Given the description of an element on the screen output the (x, y) to click on. 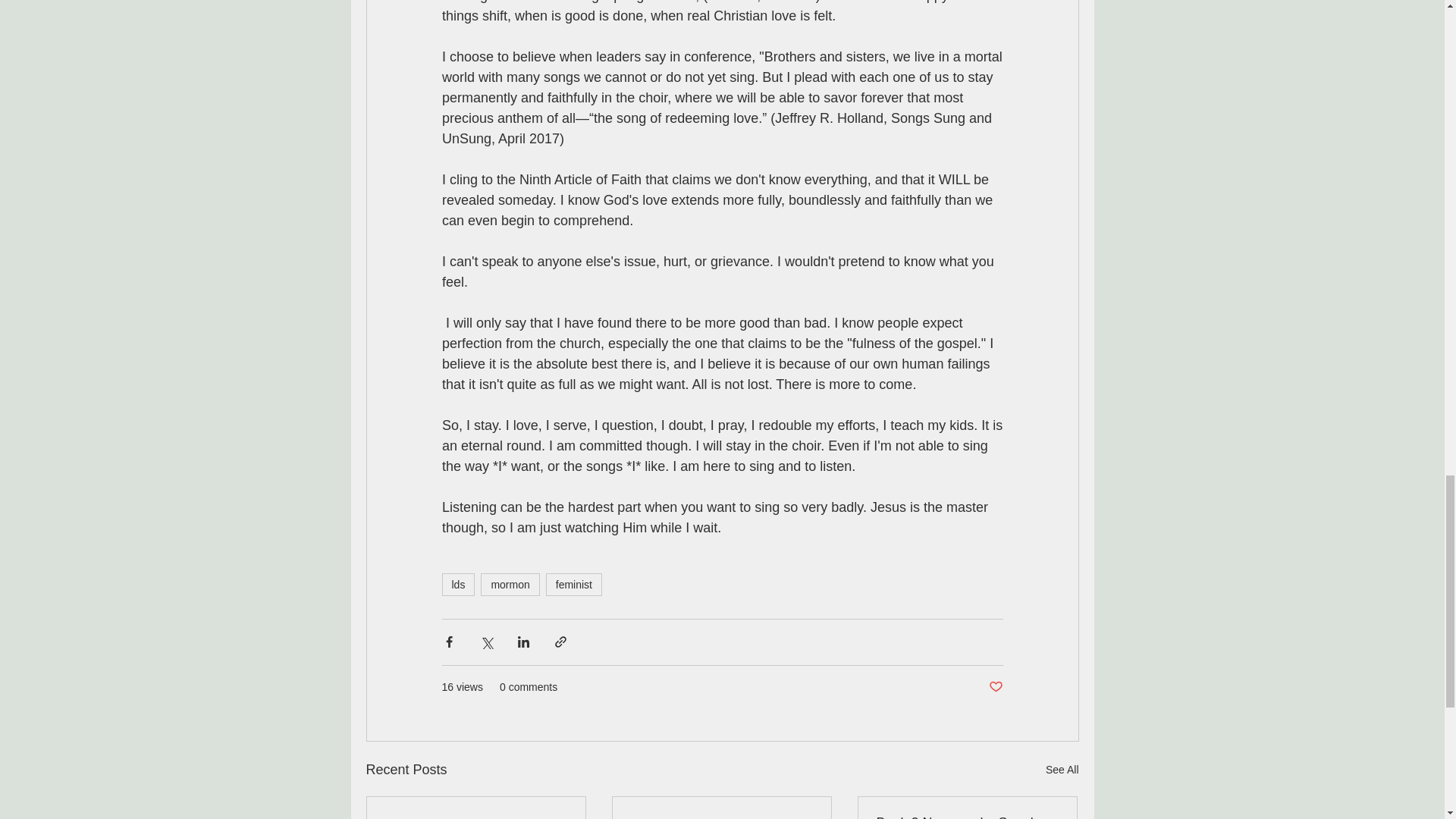
Book 2 News and a Sneak Peek (967, 816)
mormon (509, 584)
Post not marked as liked (995, 687)
feminist (574, 584)
See All (1061, 770)
lds (457, 584)
